Given the description of an element on the screen output the (x, y) to click on. 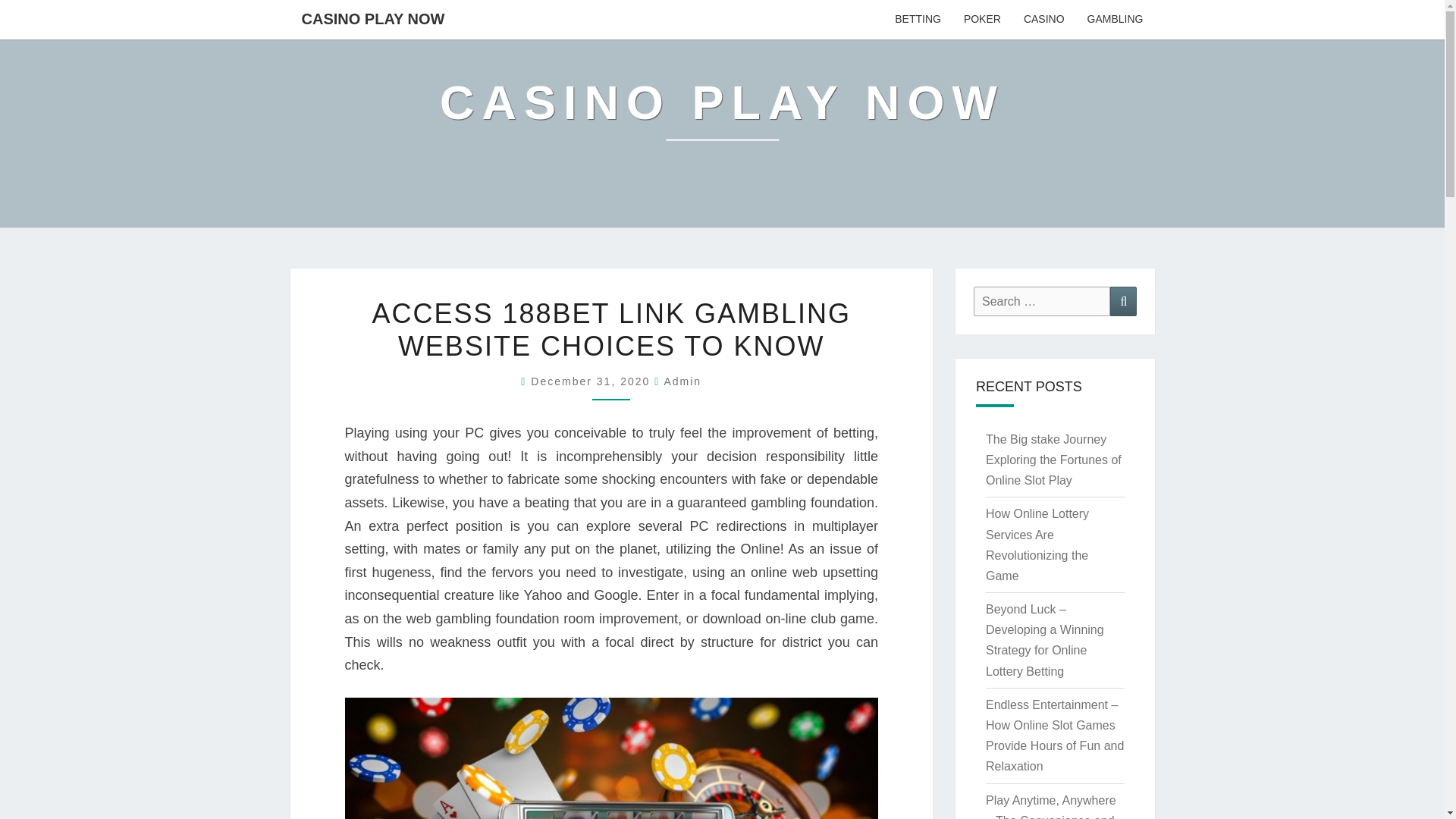
Search for: (1041, 301)
CASINO (1043, 19)
CASINO PLAY NOW (721, 113)
Search (1123, 301)
BETTING (917, 19)
8:51 am (592, 381)
December 31, 2020 (592, 381)
Admin (682, 381)
View all posts by admin (682, 381)
How Online Lottery Services Are Revolutionizing the Game (1037, 544)
